Given the description of an element on the screen output the (x, y) to click on. 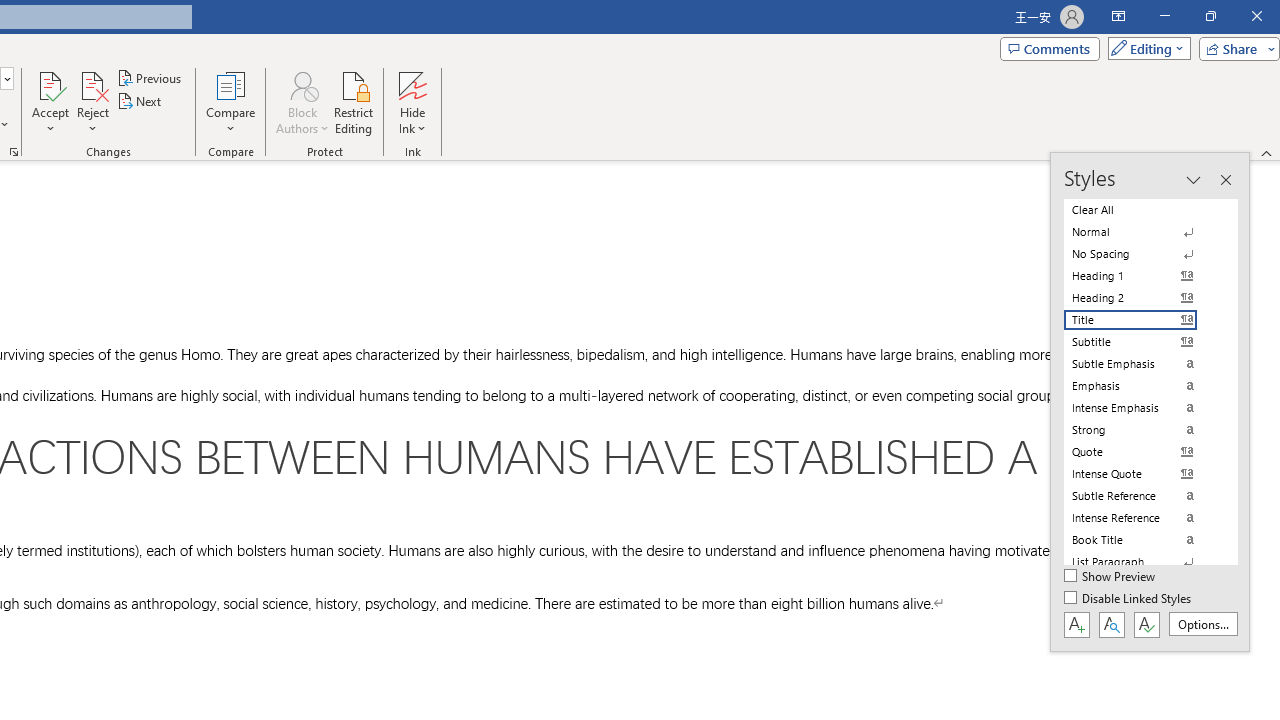
Intense Quote (1142, 473)
Previous (150, 78)
Subtle Emphasis (1142, 363)
Strong (1142, 429)
Class: NetUIButton (1146, 624)
Block Authors (302, 102)
Intense Reference (1142, 517)
Clear All (1142, 209)
Accept (50, 102)
